Given the description of an element on the screen output the (x, y) to click on. 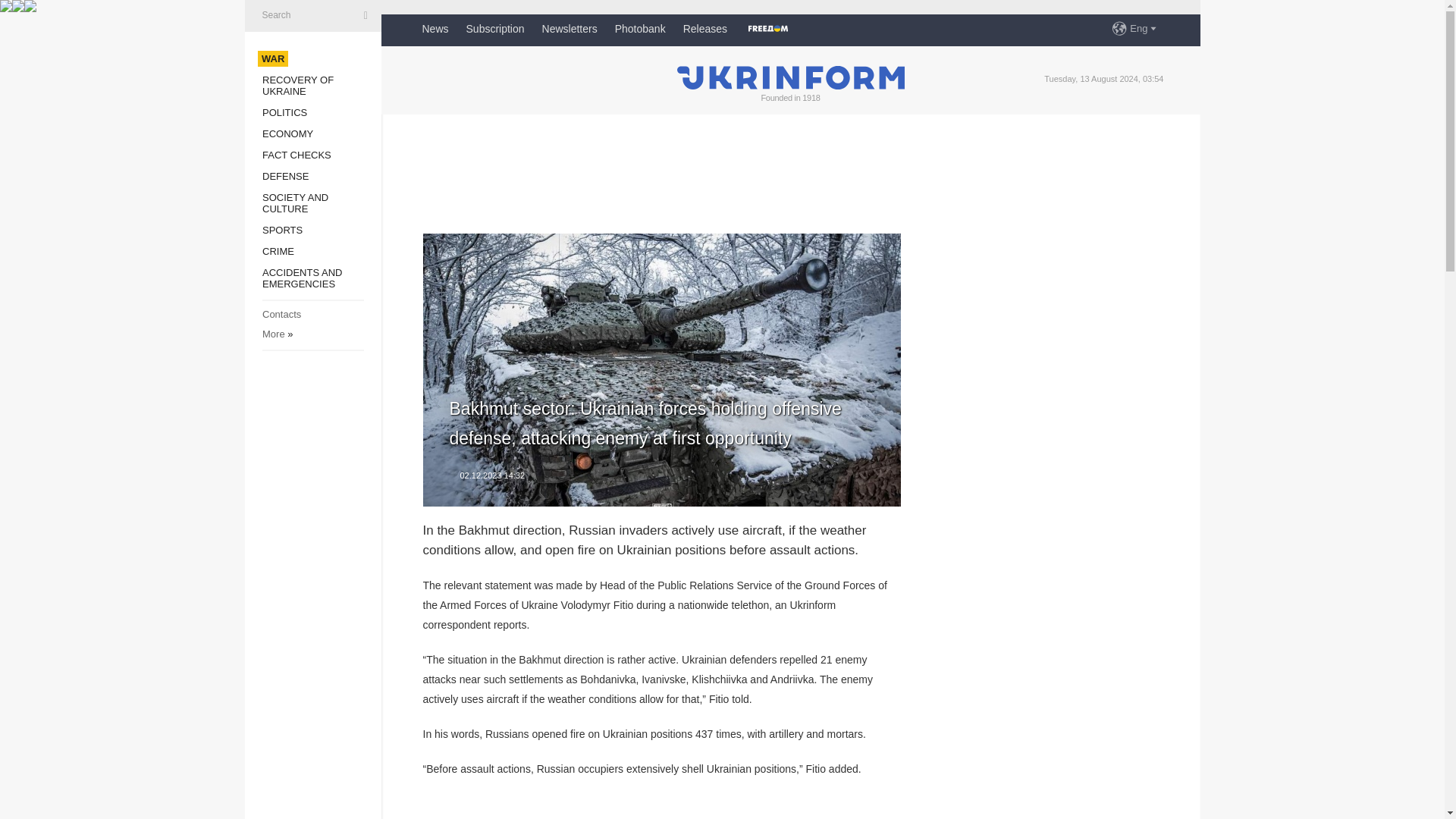
ECONOMY (287, 133)
SPORTS (282, 229)
DEFENSE (285, 175)
Subscription (494, 28)
More (273, 333)
Contacts (281, 314)
ACCIDENTS AND EMERGENCIES (302, 277)
FreeDOM (767, 28)
Newsletters (568, 28)
POLITICS (284, 112)
